Given the description of an element on the screen output the (x, y) to click on. 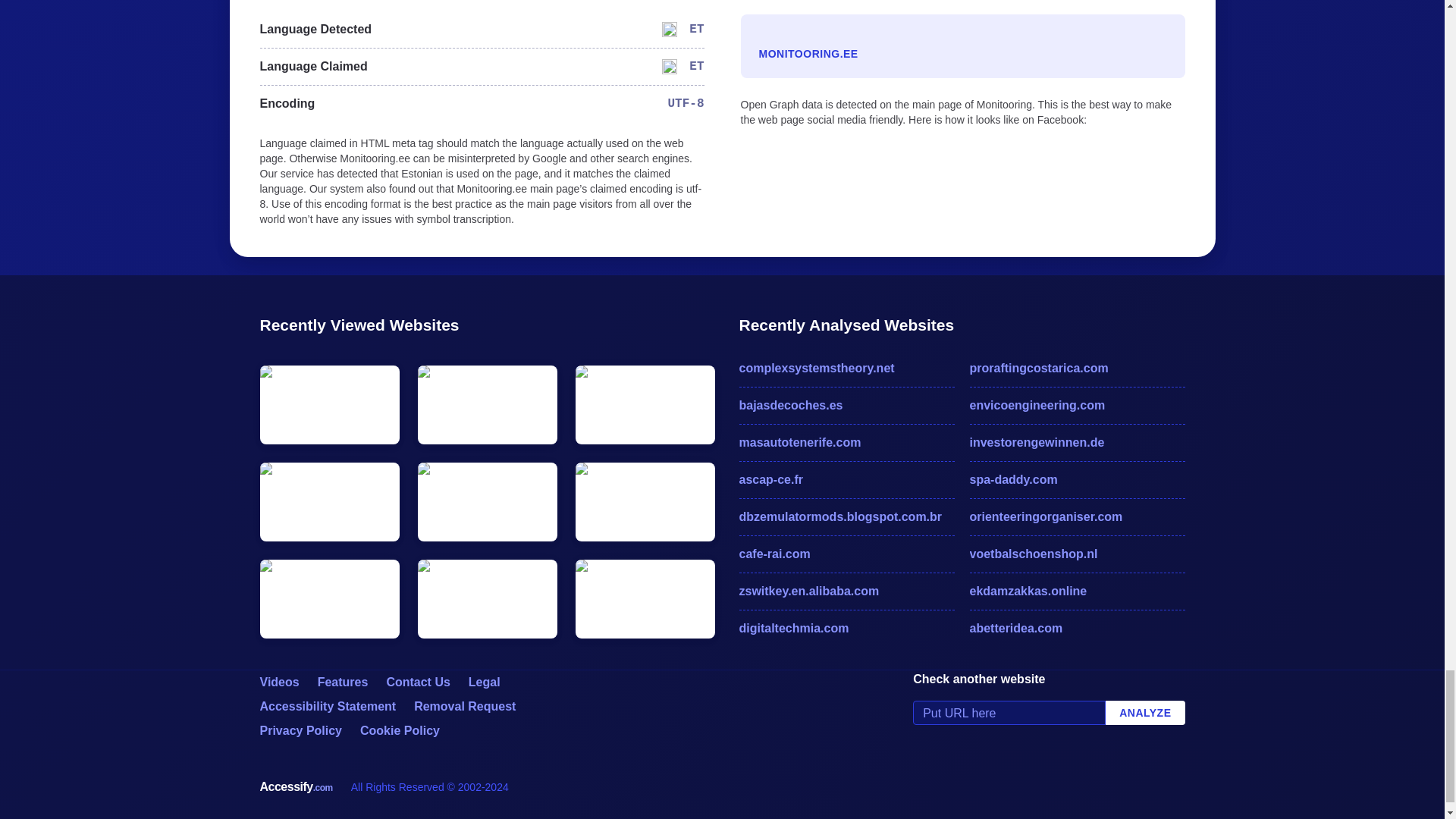
proraftingcostarica.com (1077, 368)
cafe-rai.com (845, 554)
ekdamzakkas.online (1077, 591)
abetteridea.com (1077, 628)
envicoengineering.com (1077, 405)
complexsystemstheory.net (845, 368)
Features (342, 681)
Screencasts: video tutorials and guides (278, 681)
bajasdecoches.es (845, 405)
zswitkey.en.alibaba.com (845, 591)
